Given the description of an element on the screen output the (x, y) to click on. 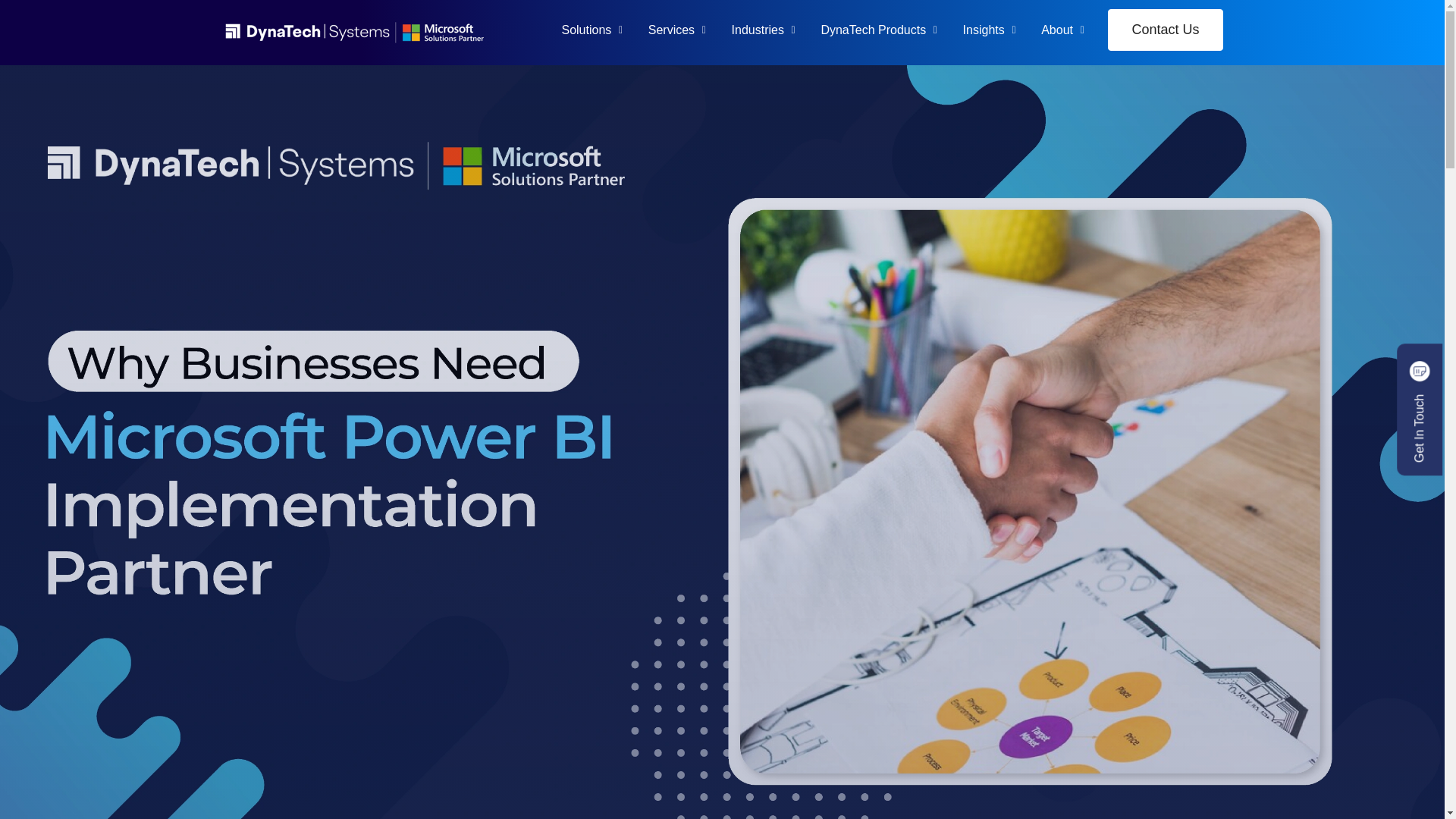
Solutions (585, 29)
Services (671, 29)
